Given the description of an element on the screen output the (x, y) to click on. 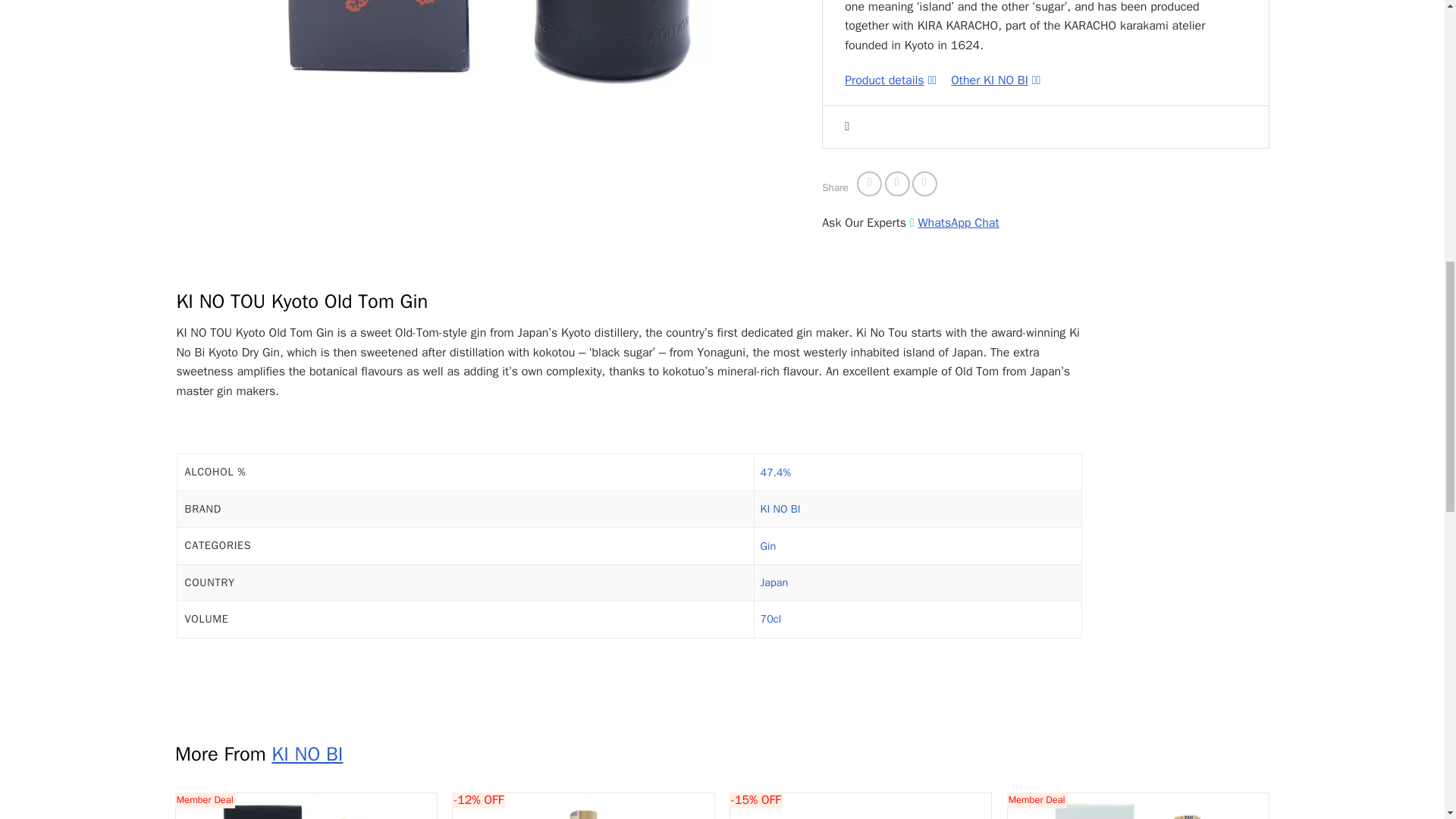
Share on Twitter (897, 183)
Email to a Friend (924, 183)
Share on Facebook (869, 183)
